Given the description of an element on the screen output the (x, y) to click on. 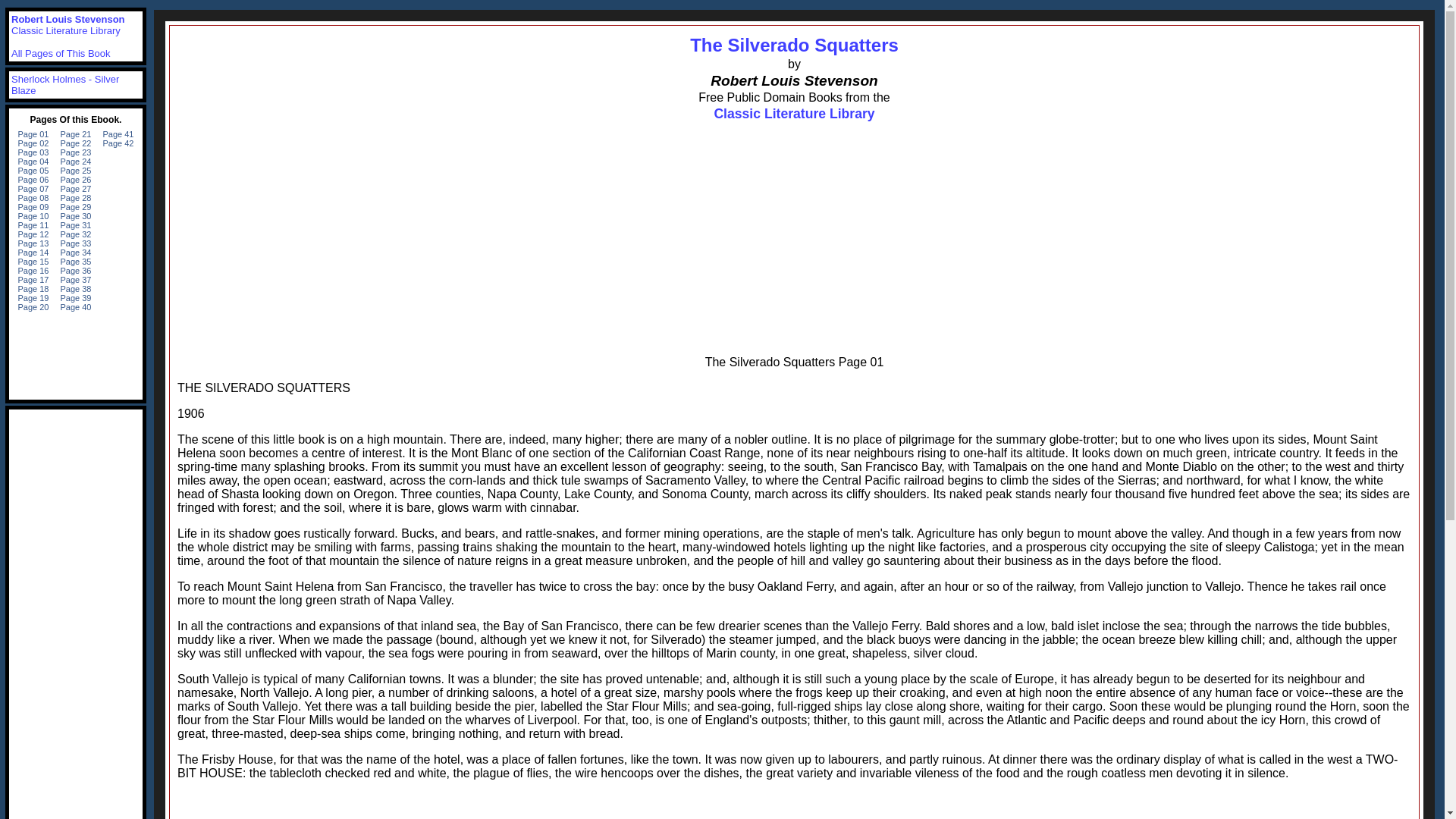
Classic Literature Library (794, 113)
Sherlock Holmes - Silver Blaze (65, 84)
All Pages of This Book (60, 52)
Classic Literature Library (65, 30)
The Silverado Squatters (794, 45)
Robert Louis Stevenson (68, 19)
Advertisement (794, 805)
